Given the description of an element on the screen output the (x, y) to click on. 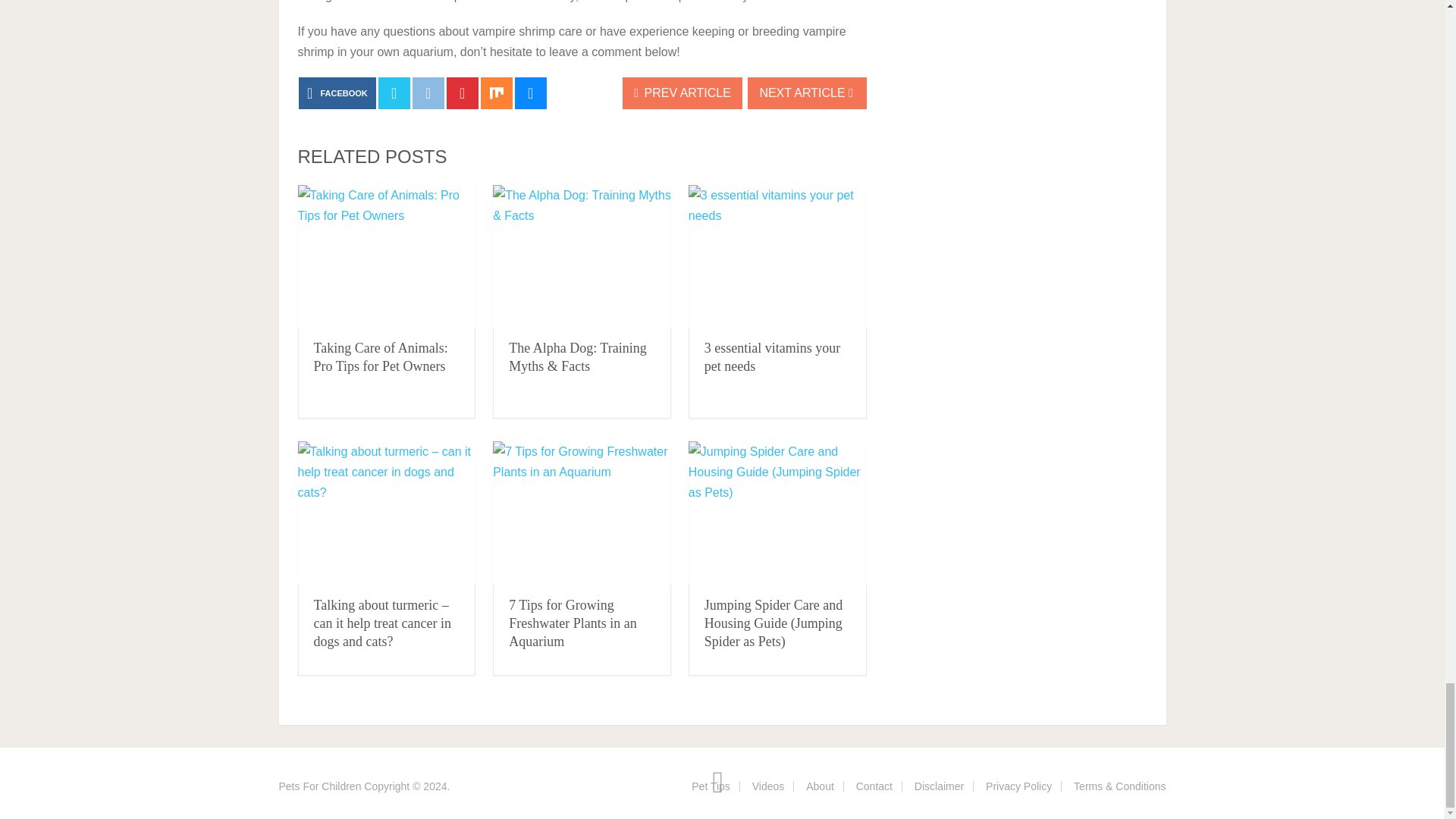
NEXT ARTICLE (807, 92)
FACEBOOK (336, 92)
Taking Care of Animals: Pro Tips for Pet Owners (381, 356)
3 essential vitamins your pet needs (777, 256)
Taking Care of Animals: Pro Tips for Pet Owners (386, 256)
PREV ARTICLE (682, 92)
